Given the description of an element on the screen output the (x, y) to click on. 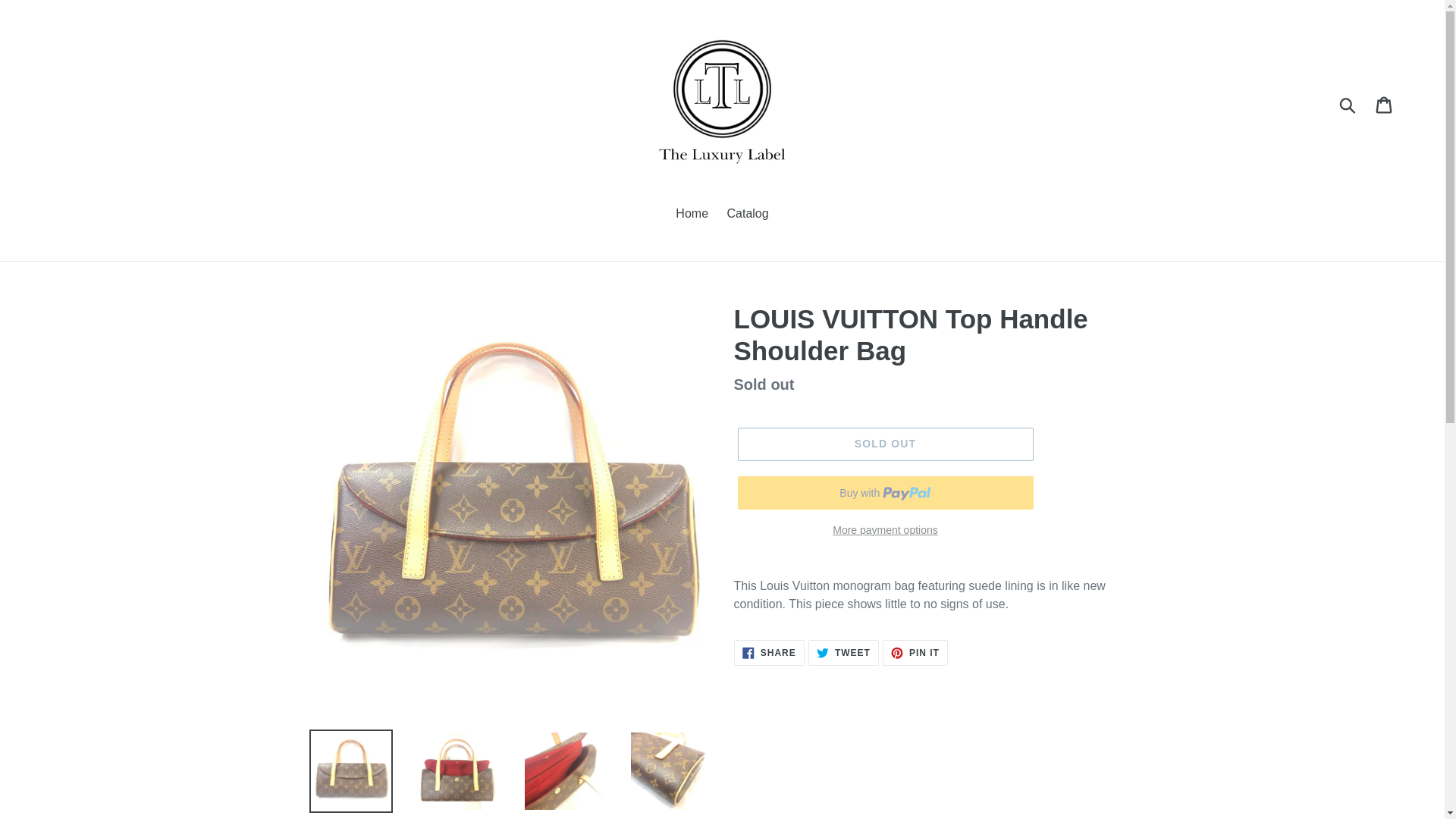
Home (914, 652)
Catalog (692, 214)
Cart (747, 214)
SOLD OUT (1385, 103)
Submit (884, 444)
More payment options (769, 652)
